Given the description of an element on the screen output the (x, y) to click on. 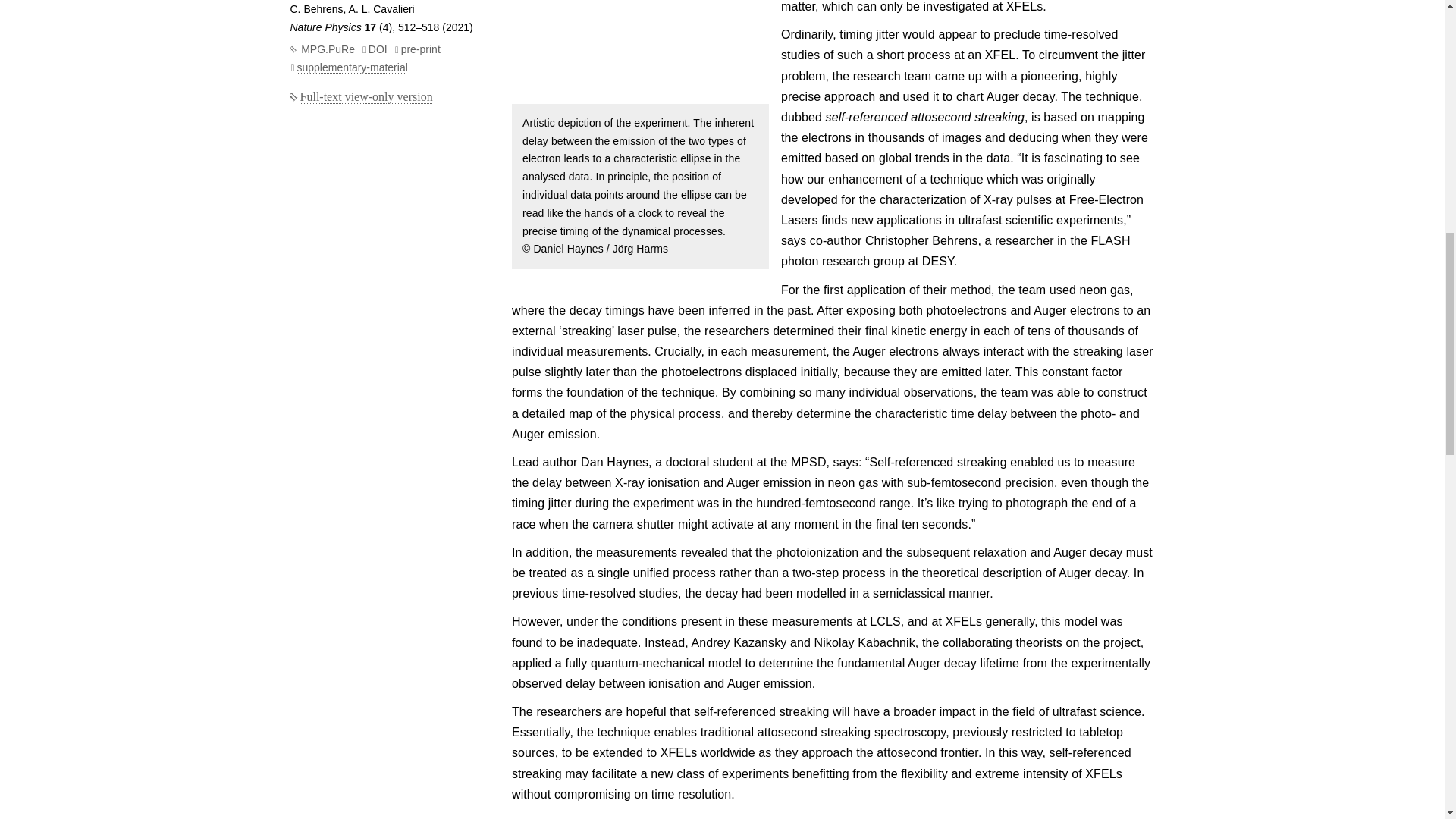
opens zoom view (640, 52)
Full-text view-only version (360, 96)
